Given the description of an element on the screen output the (x, y) to click on. 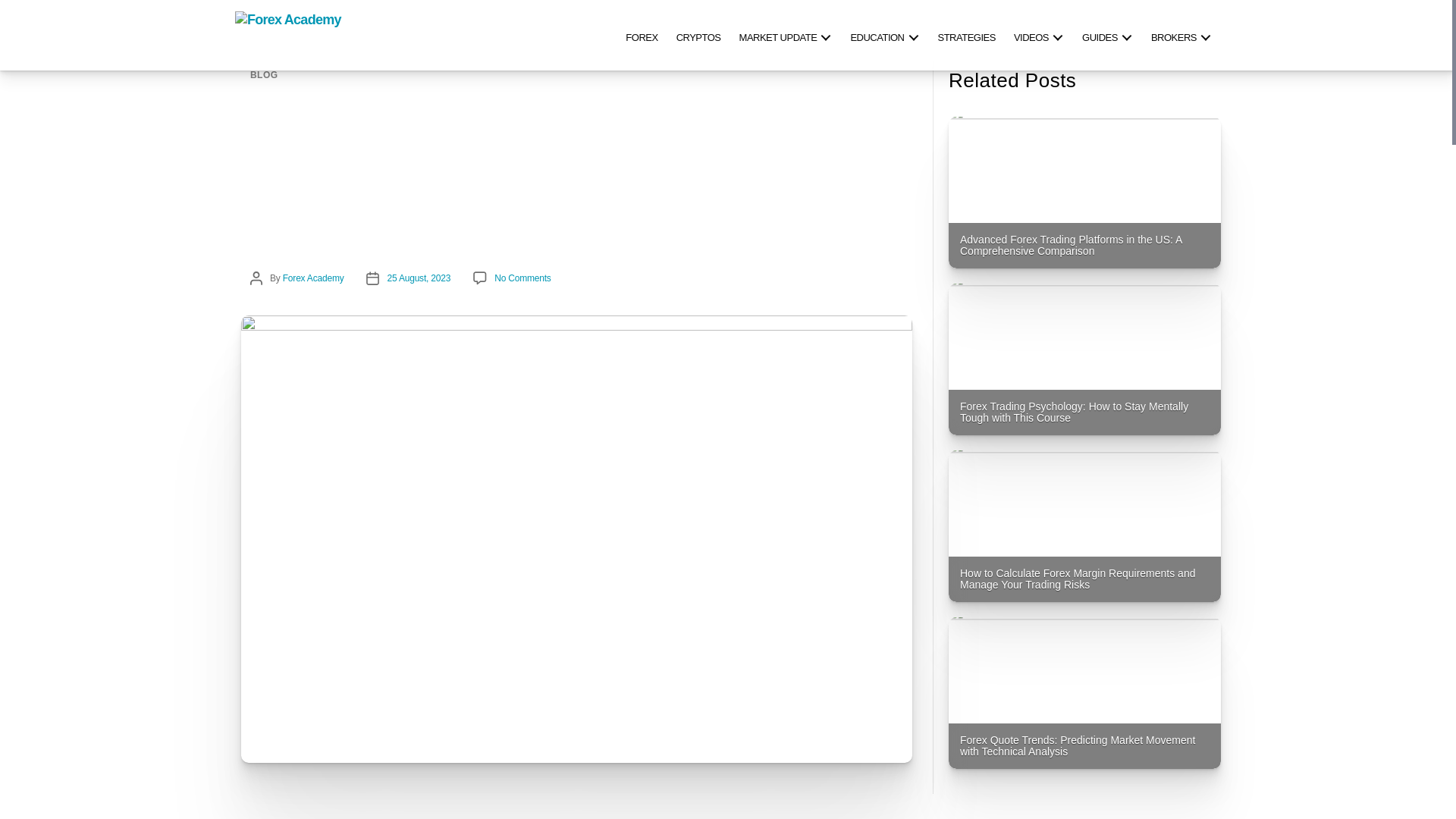
STRATEGIES (966, 35)
EDUCATION (884, 35)
CRYPTOS (698, 35)
BROKERS (1181, 35)
MARKET UPDATE (785, 35)
GUIDES (1107, 35)
